Given the description of an element on the screen output the (x, y) to click on. 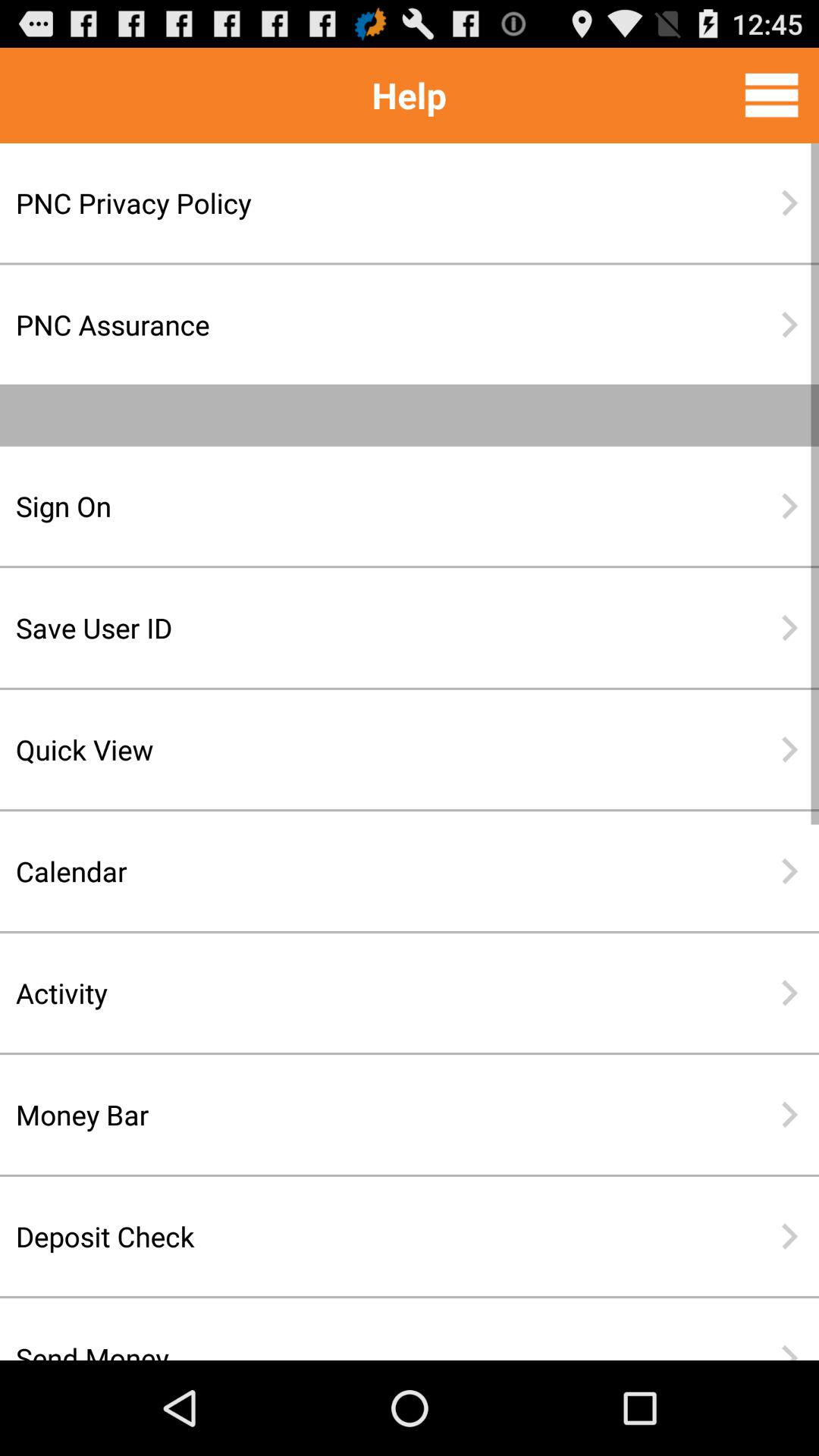
tap item above the save user id item (359, 505)
